Given the description of an element on the screen output the (x, y) to click on. 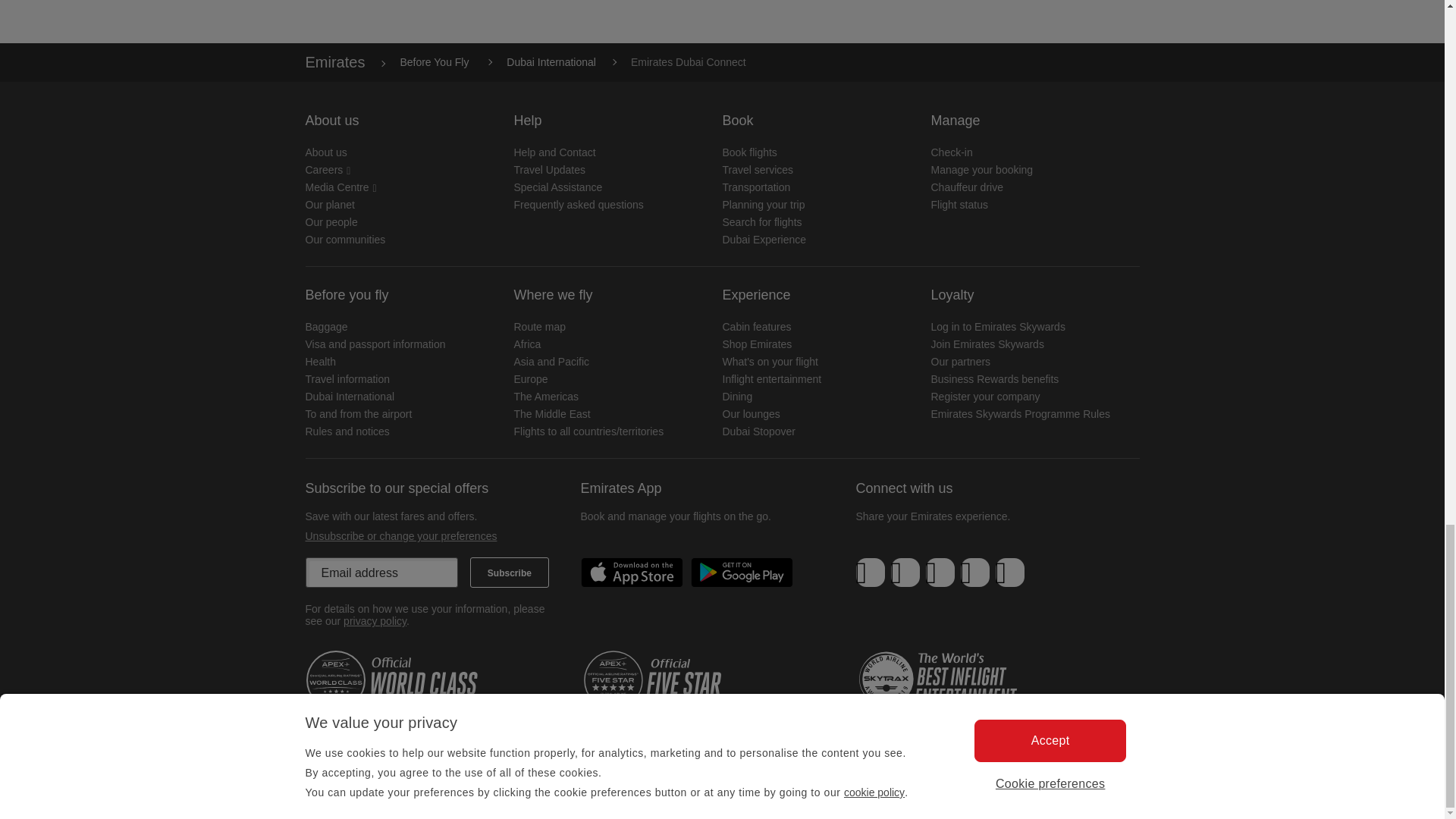
Instagram (1009, 572)
Unsubscribe or change your preferences (400, 535)
X-social (904, 572)
privacy policy (374, 621)
Youtube (974, 572)
Facebook (870, 572)
Apex five star rating 2021 (673, 680)
World Class Airline APEX Official Airline Ratings (395, 680)
LinkedIn (939, 572)
